Given the description of an element on the screen output the (x, y) to click on. 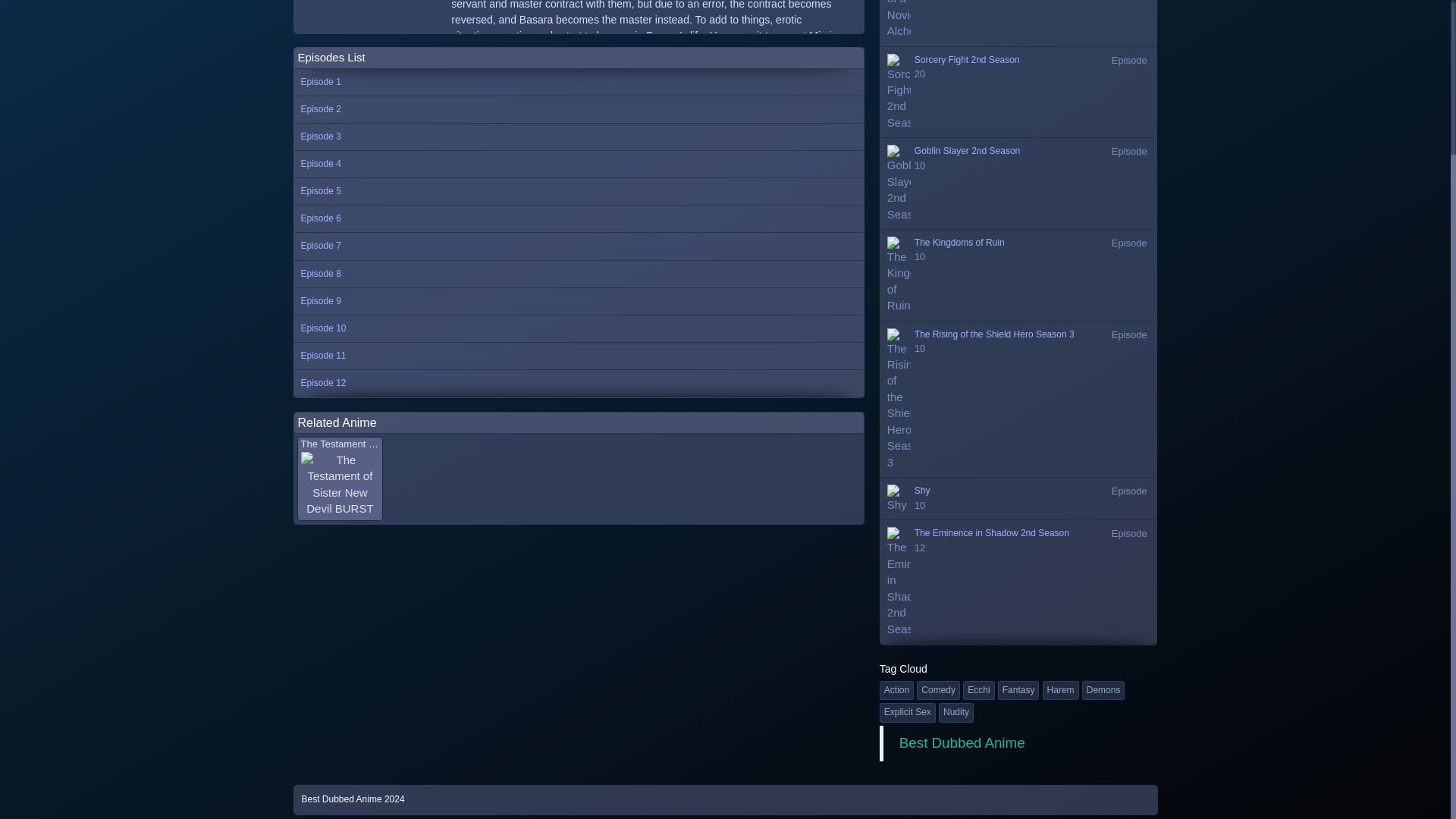
Explicit Sex (1018, 275)
The Kingdoms of Ruin Episode  10 (909, 710)
Harem (1018, 275)
Goblin Slayer 2nd Season Episode  10 (1061, 688)
Watch The Testament of Sister New Devil episode 7 (1018, 184)
Episode 12 (578, 246)
Watch The Testament of Sister New Devil episode 6 (578, 383)
Sorcery Fight 2nd Season Episode  20 (578, 218)
